Given the description of an element on the screen output the (x, y) to click on. 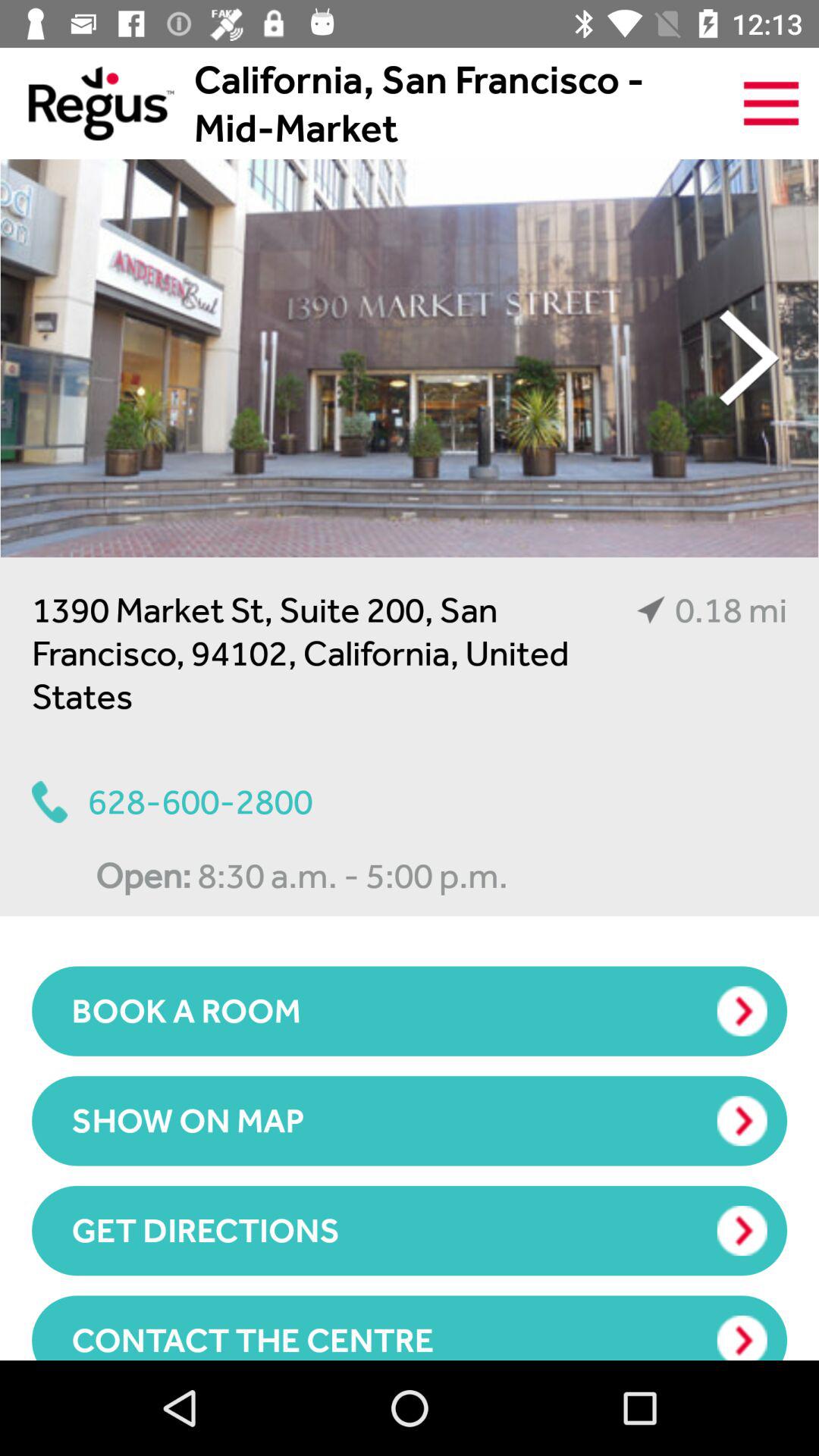
choose item above get directions item (409, 1120)
